Given the description of an element on the screen output the (x, y) to click on. 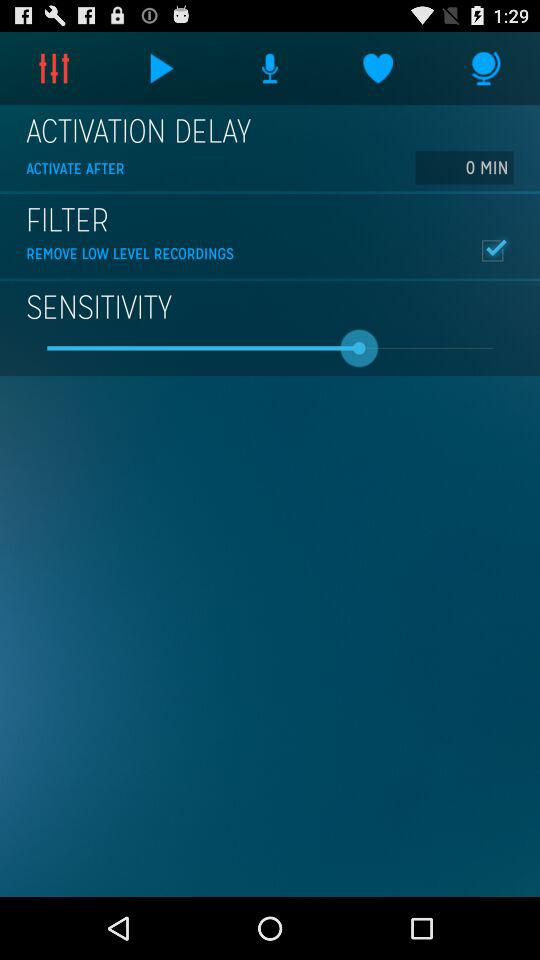
launch item above the filter (464, 167)
